Given the description of an element on the screen output the (x, y) to click on. 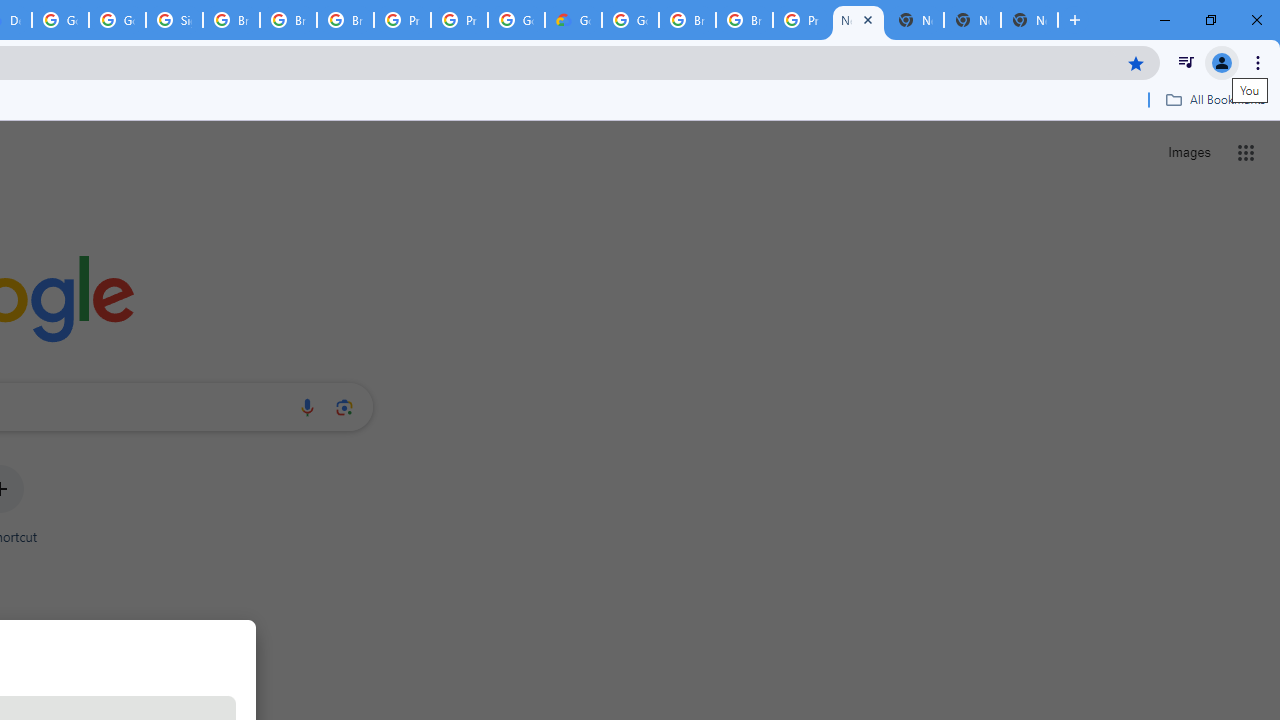
Sign in - Google Accounts (174, 20)
Google Cloud Estimate Summary (573, 20)
Browse Chrome as a guest - Computer - Google Chrome Help (231, 20)
Google Cloud Platform (516, 20)
